Given the description of an element on the screen output the (x, y) to click on. 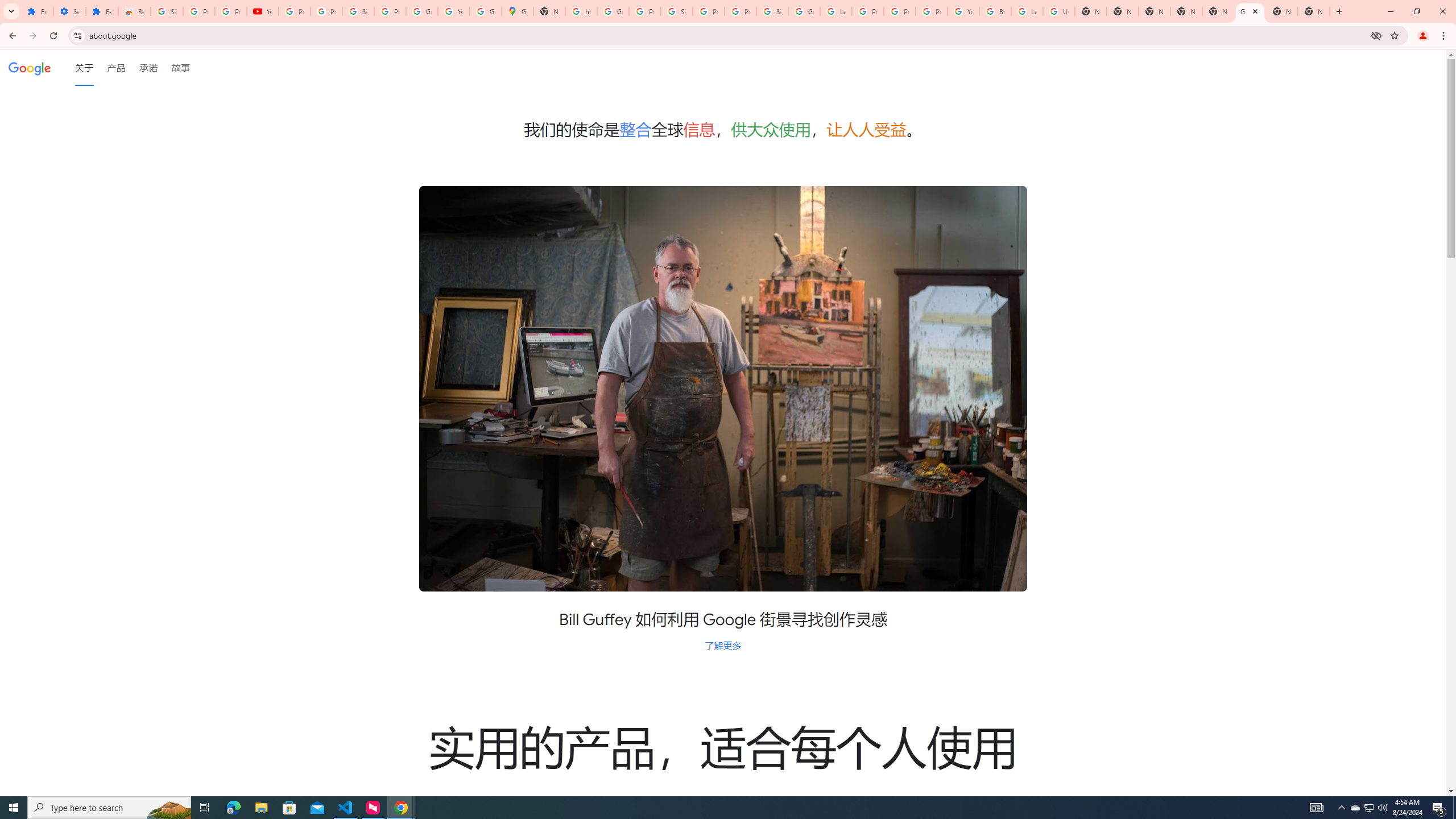
Google Maps (517, 11)
Google Account (421, 11)
Privacy Help Center - Policies Help (899, 11)
